Given the description of an element on the screen output the (x, y) to click on. 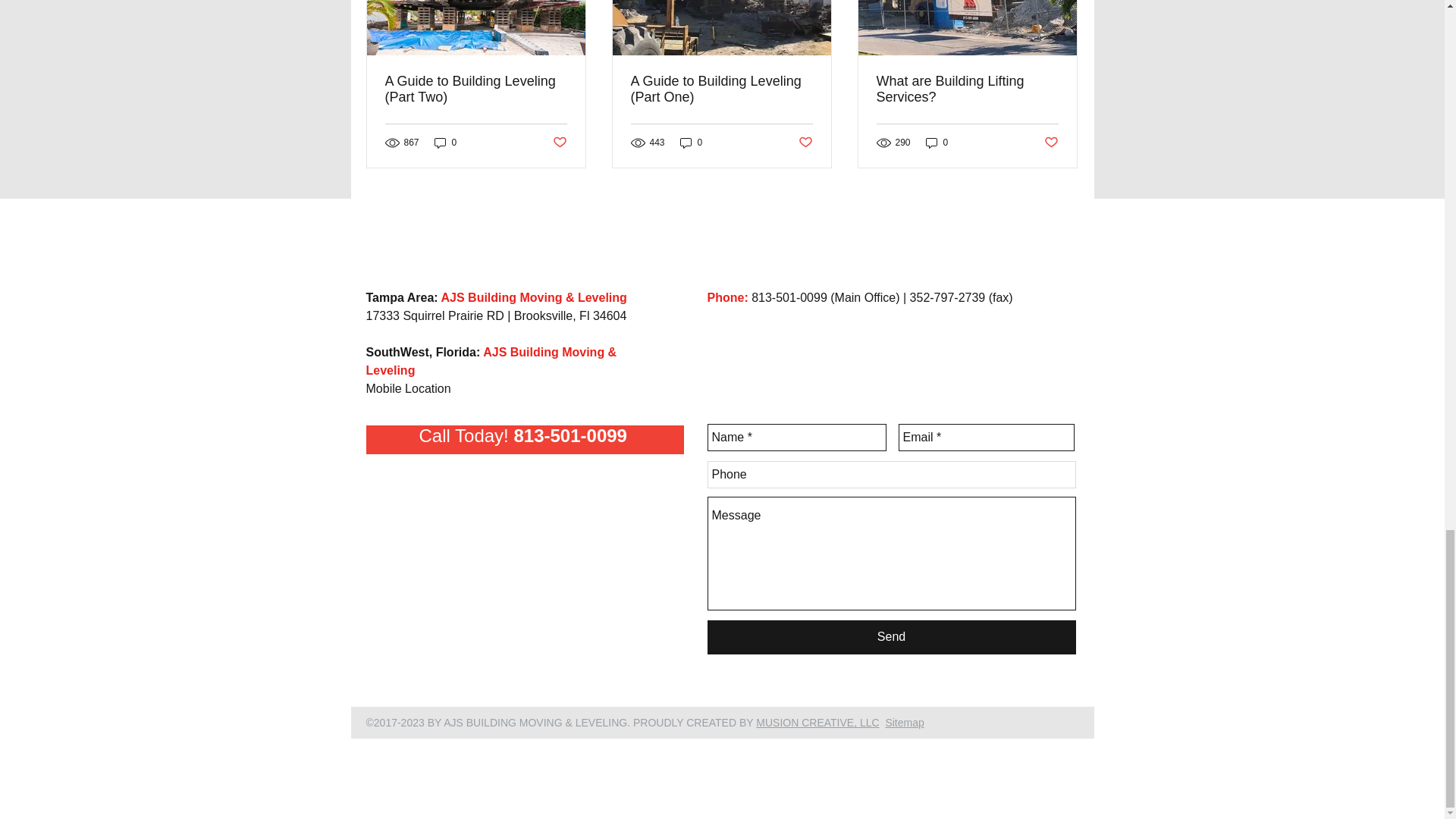
Send (890, 636)
0 (937, 142)
0 (445, 142)
Post not marked as liked (558, 142)
What are Building Lifting Services? (967, 89)
Sitemap (904, 722)
MUSION CREATIVE, LLC (817, 722)
0 (691, 142)
Post not marked as liked (804, 142)
Post not marked as liked (1050, 142)
